Given the description of an element on the screen output the (x, y) to click on. 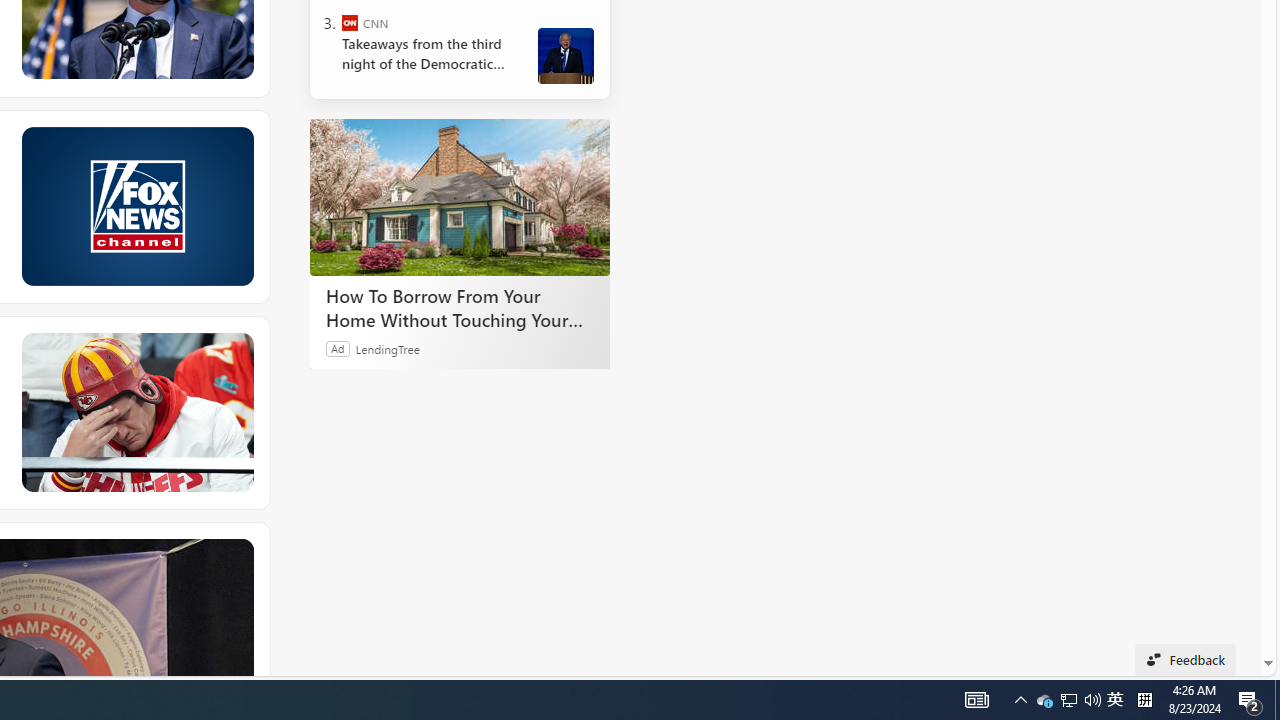
CNN (349, 22)
LendingTree (387, 348)
